Given the description of an element on the screen output the (x, y) to click on. 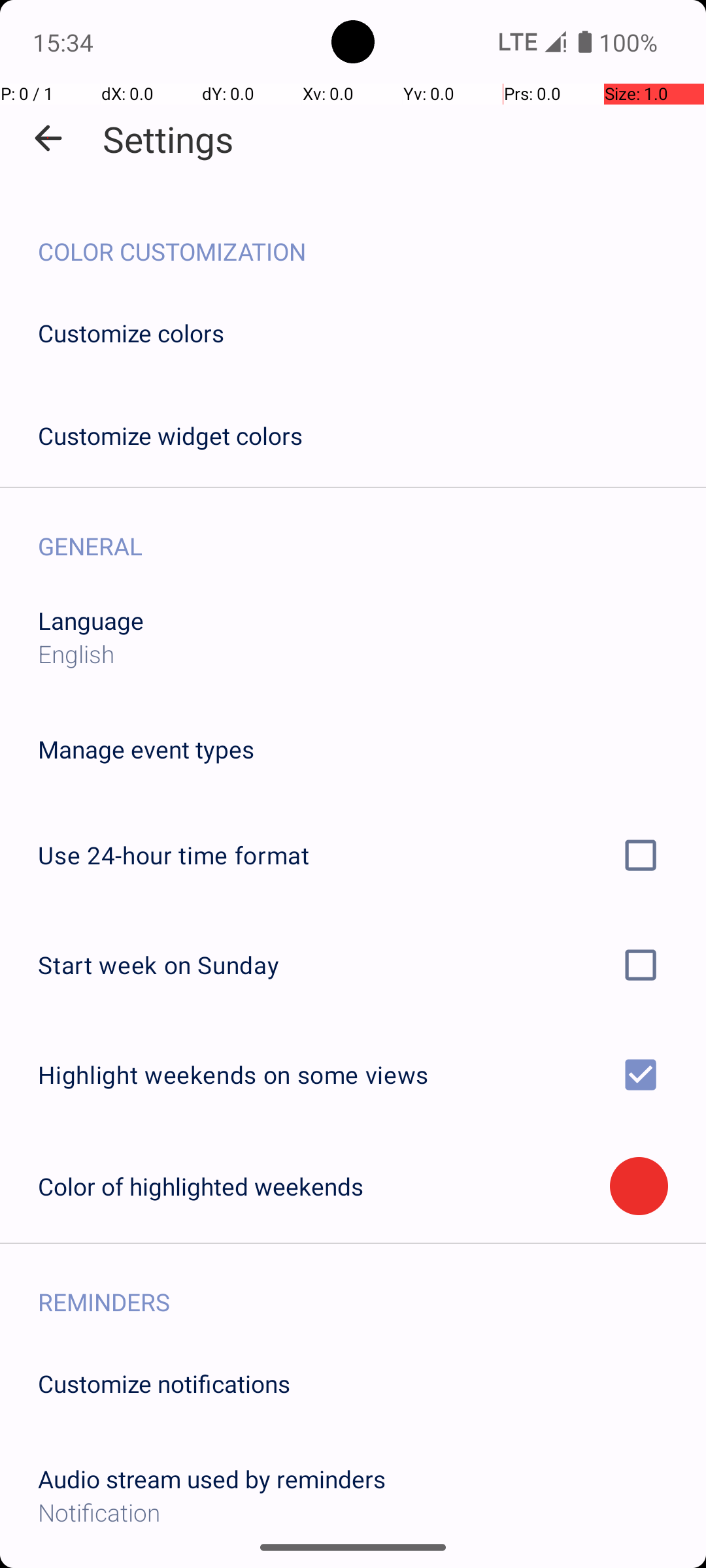
Color of highlighted weekends Element type: android.widget.TextView (323, 1186)
